Given the description of an element on the screen output the (x, y) to click on. 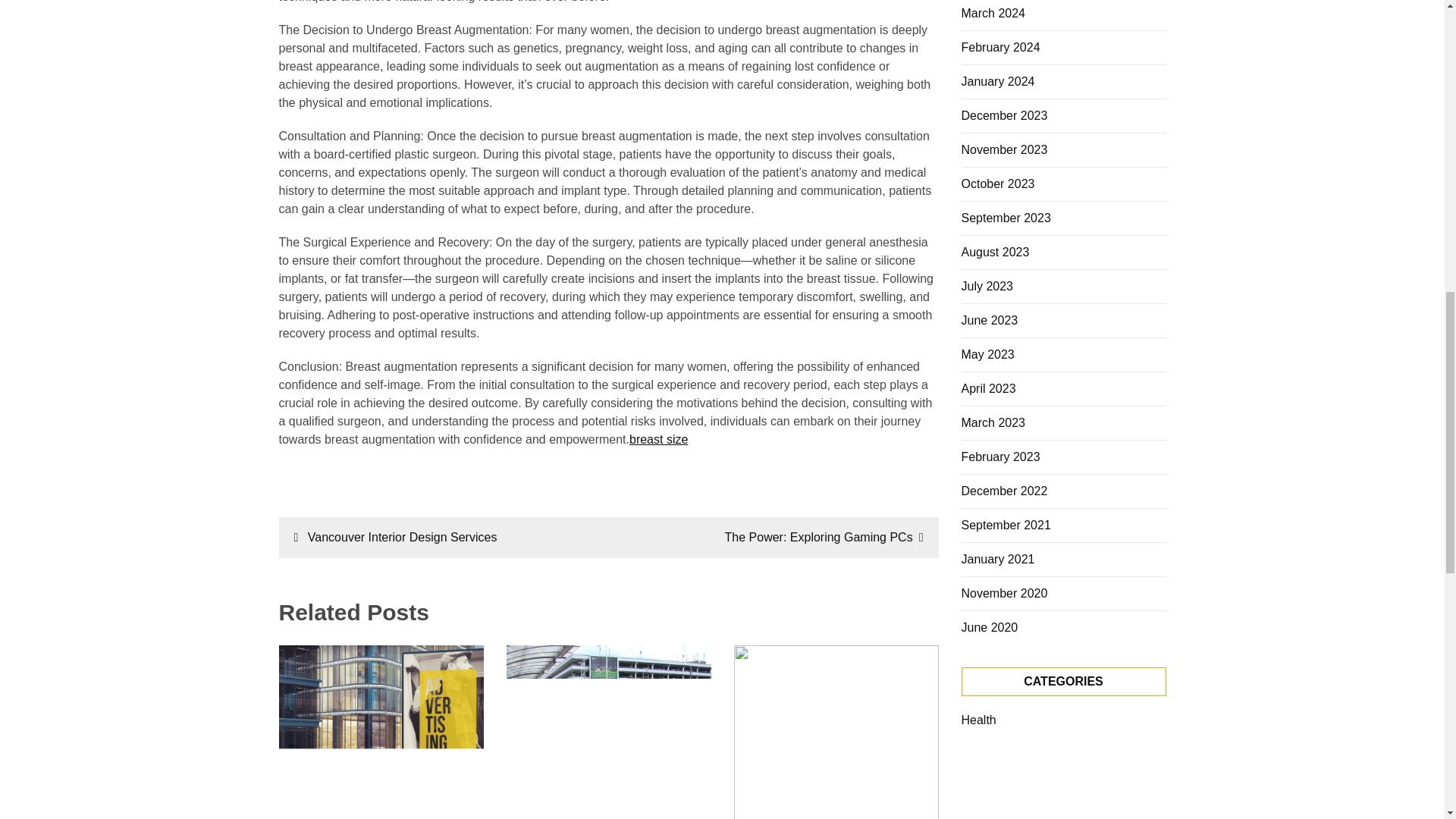
The Power: Exploring Gaming PCs (824, 536)
Vancouver Interior Design Services (395, 536)
breast size (657, 439)
